Given the description of an element on the screen output the (x, y) to click on. 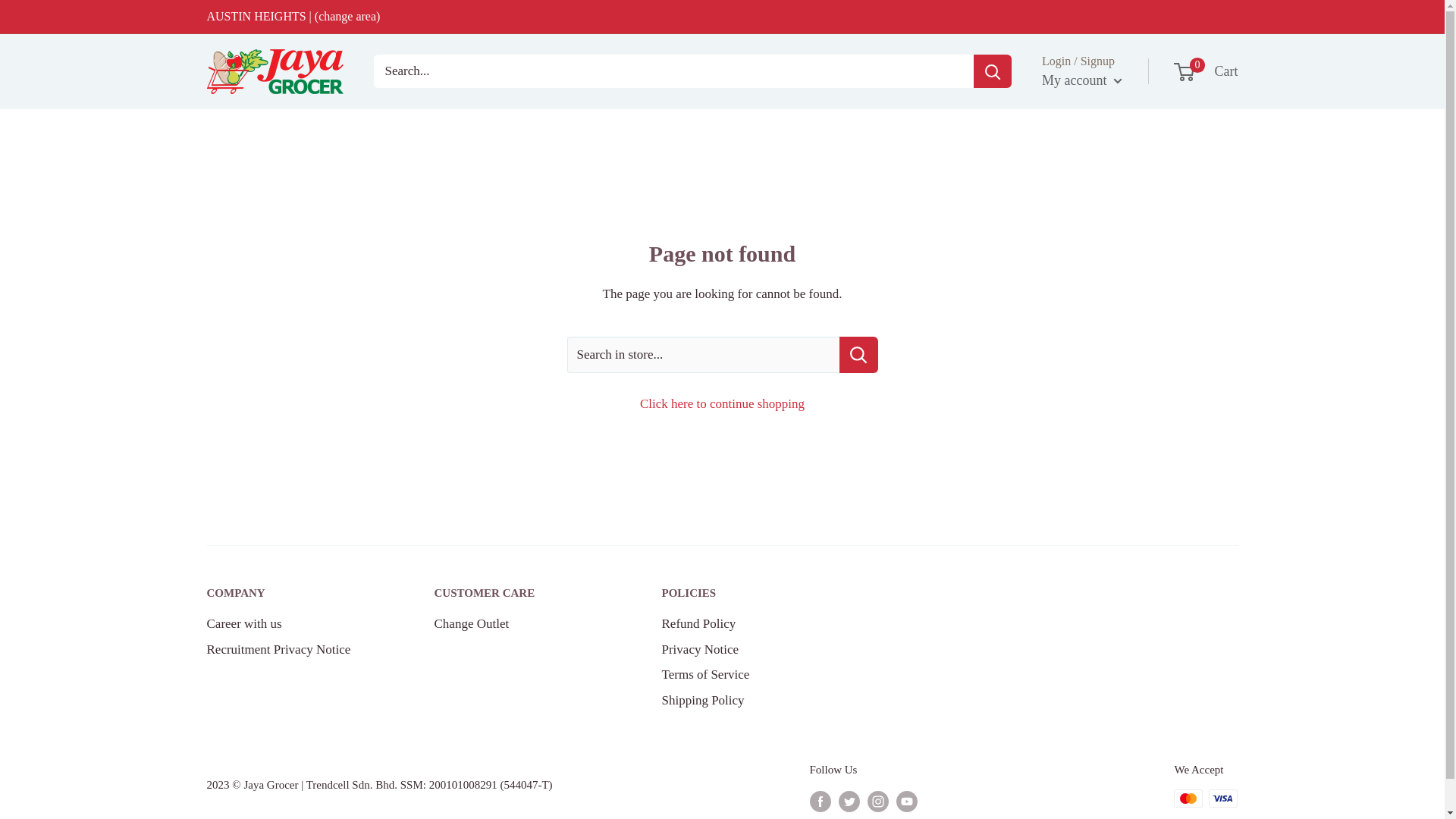
CUSTOMER CARE (520, 593)
COMPANY (293, 593)
Recruitment Privacy Notice (293, 649)
Refund Policy (748, 623)
Click here to continue shopping (722, 403)
Terms of Service (748, 674)
Shipping Policy (1206, 71)
Privacy Notice (748, 700)
POLICIES (748, 649)
Change Outlet (748, 593)
My account (520, 623)
Career with us (1082, 80)
